Given the description of an element on the screen output the (x, y) to click on. 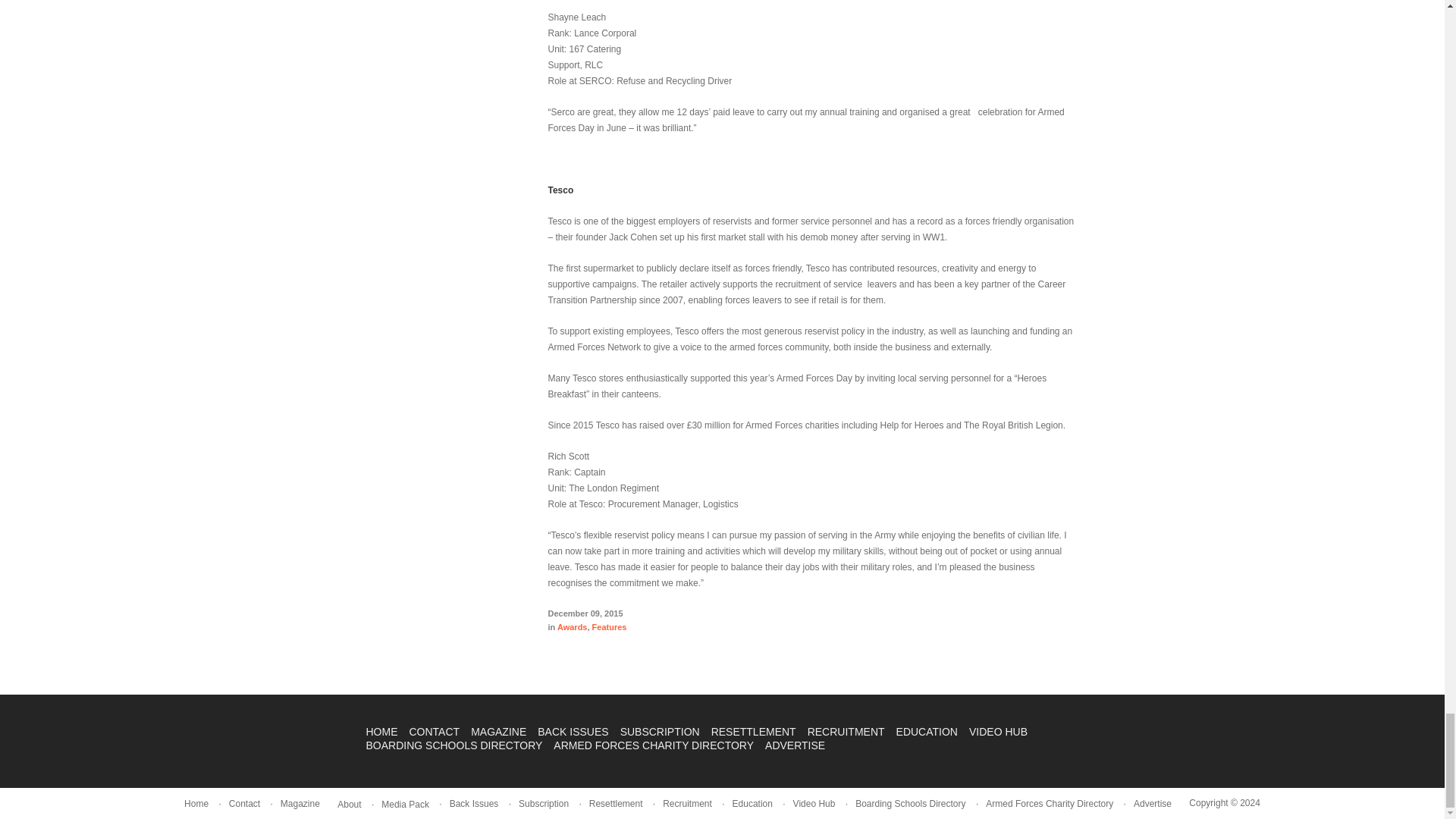
Media Pack (405, 804)
About (349, 804)
ADVERTISE (795, 745)
CONTACT (434, 731)
MAGAZINE (497, 731)
RESETTLEMENT (753, 731)
VIDEO HUB (998, 731)
ARMED FORCES CHARITY DIRECTORY (653, 745)
Subscription (543, 803)
Magazine (300, 803)
RECRUITMENT (846, 731)
BACK ISSUES (572, 731)
Resettlement (616, 803)
EDUCATION (927, 731)
Awards (572, 626)
